Given the description of an element on the screen output the (x, y) to click on. 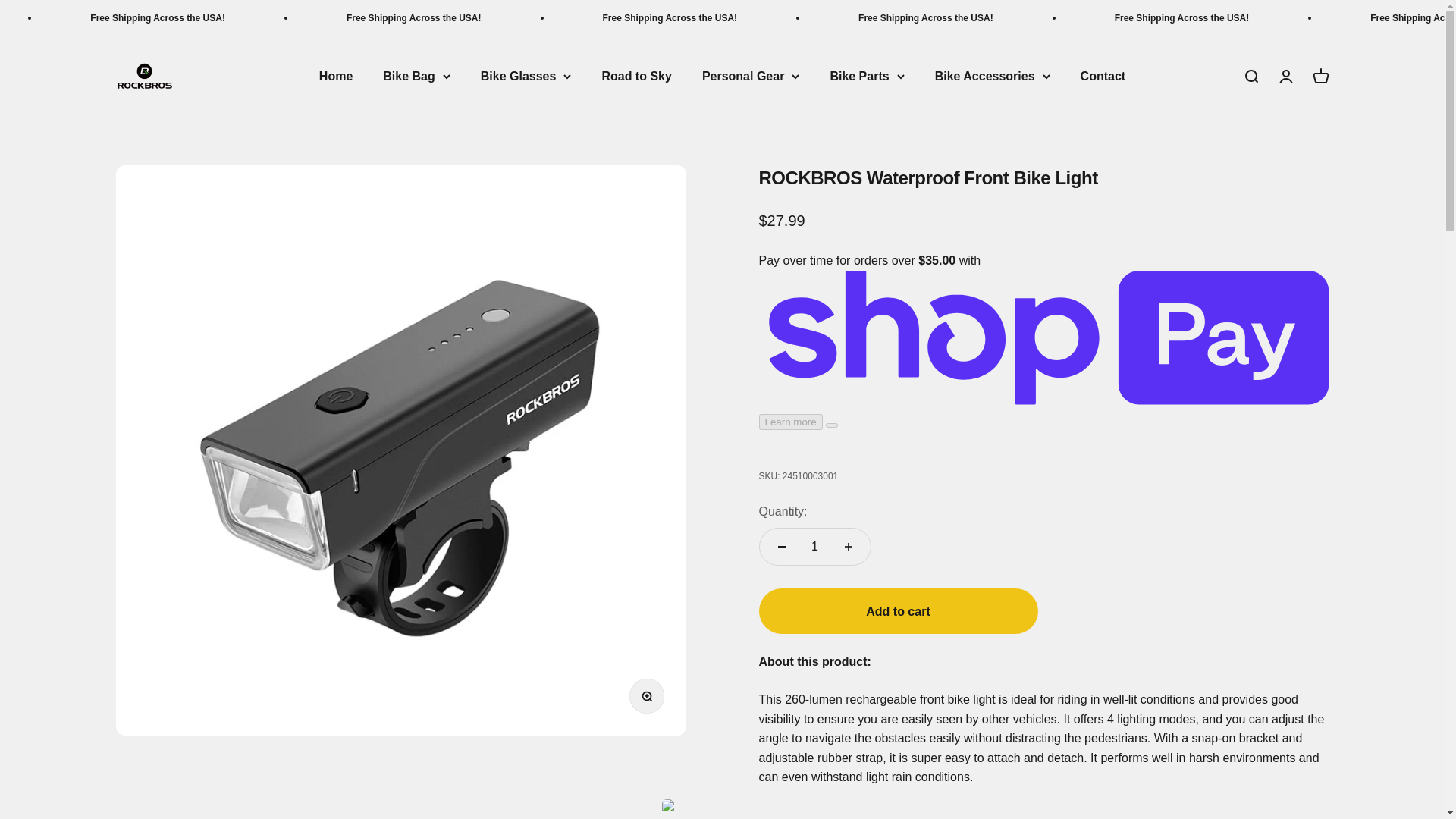
Contact (1102, 75)
Road to Sky (636, 75)
Open search (1250, 76)
Open account page (1285, 76)
ROCKBROSUSA (143, 76)
1 (1319, 76)
Home (815, 546)
